Given the description of an element on the screen output the (x, y) to click on. 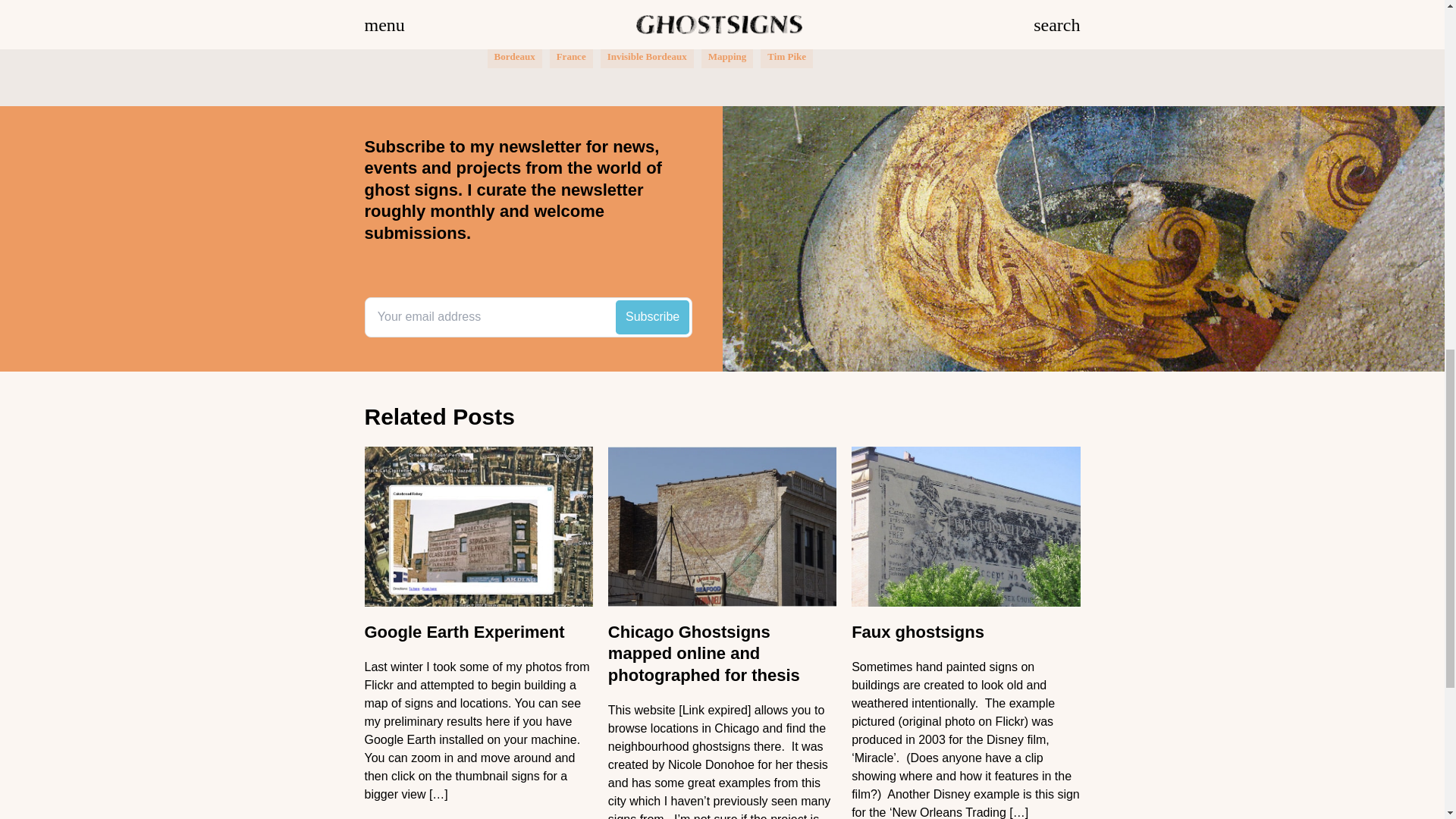
France (571, 56)
Tim Pike (786, 56)
Invisible Bordeaux (647, 56)
signup frame (527, 317)
Share (508, 7)
Bordeaux (515, 56)
Mapping (726, 56)
